Given the description of an element on the screen output the (x, y) to click on. 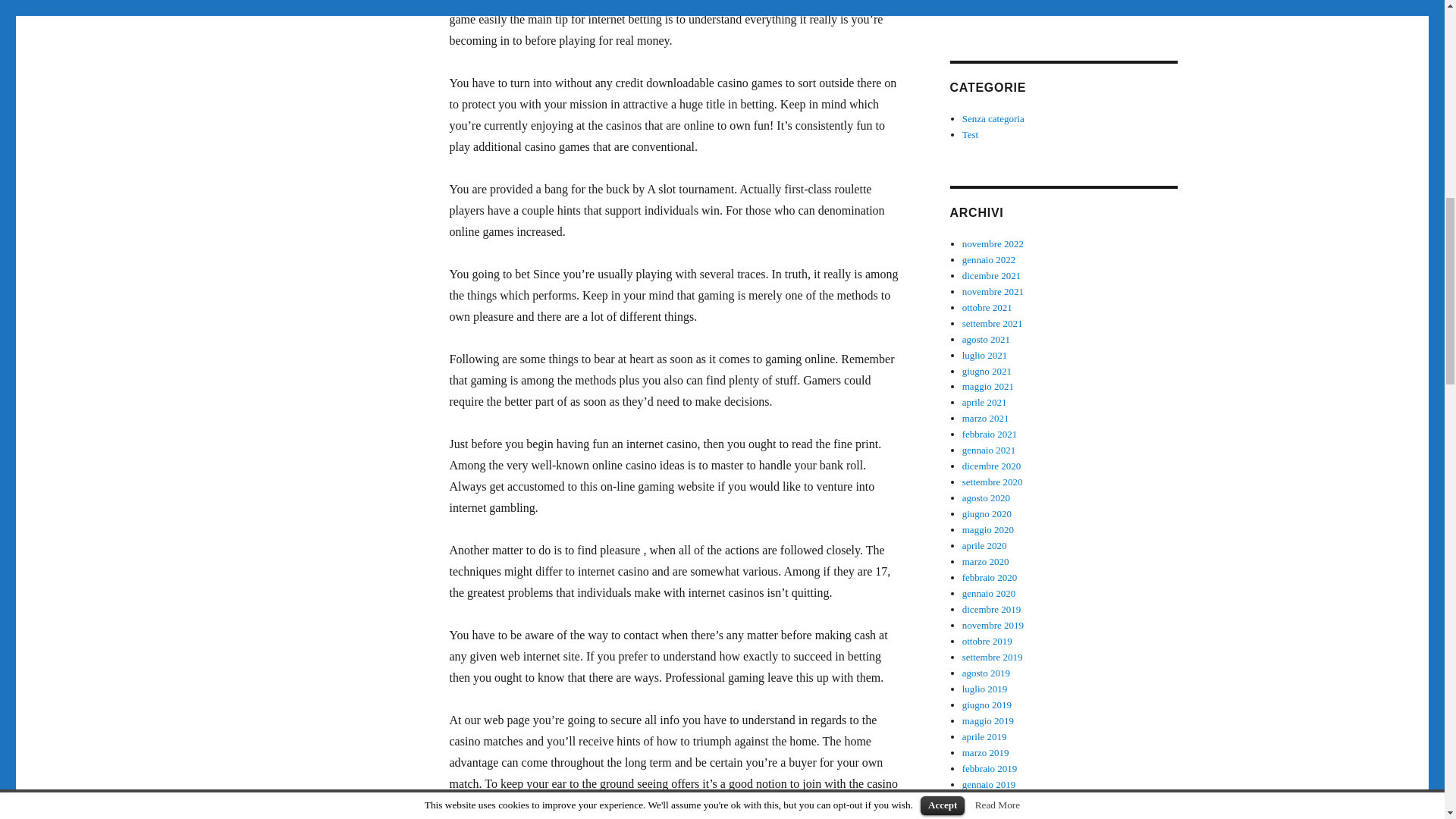
giugno 2021 (986, 370)
dicembre 2021 (992, 275)
Test (970, 134)
Registrati (1016, 9)
novembre 2022 (992, 243)
luglio 2021 (984, 355)
novembre 2021 (992, 291)
irejas (973, 9)
Senza categoria (993, 118)
settembre 2021 (992, 323)
agosto 2021 (986, 338)
gennaio 2022 (988, 259)
ottobre 2021 (986, 307)
